Given the description of an element on the screen output the (x, y) to click on. 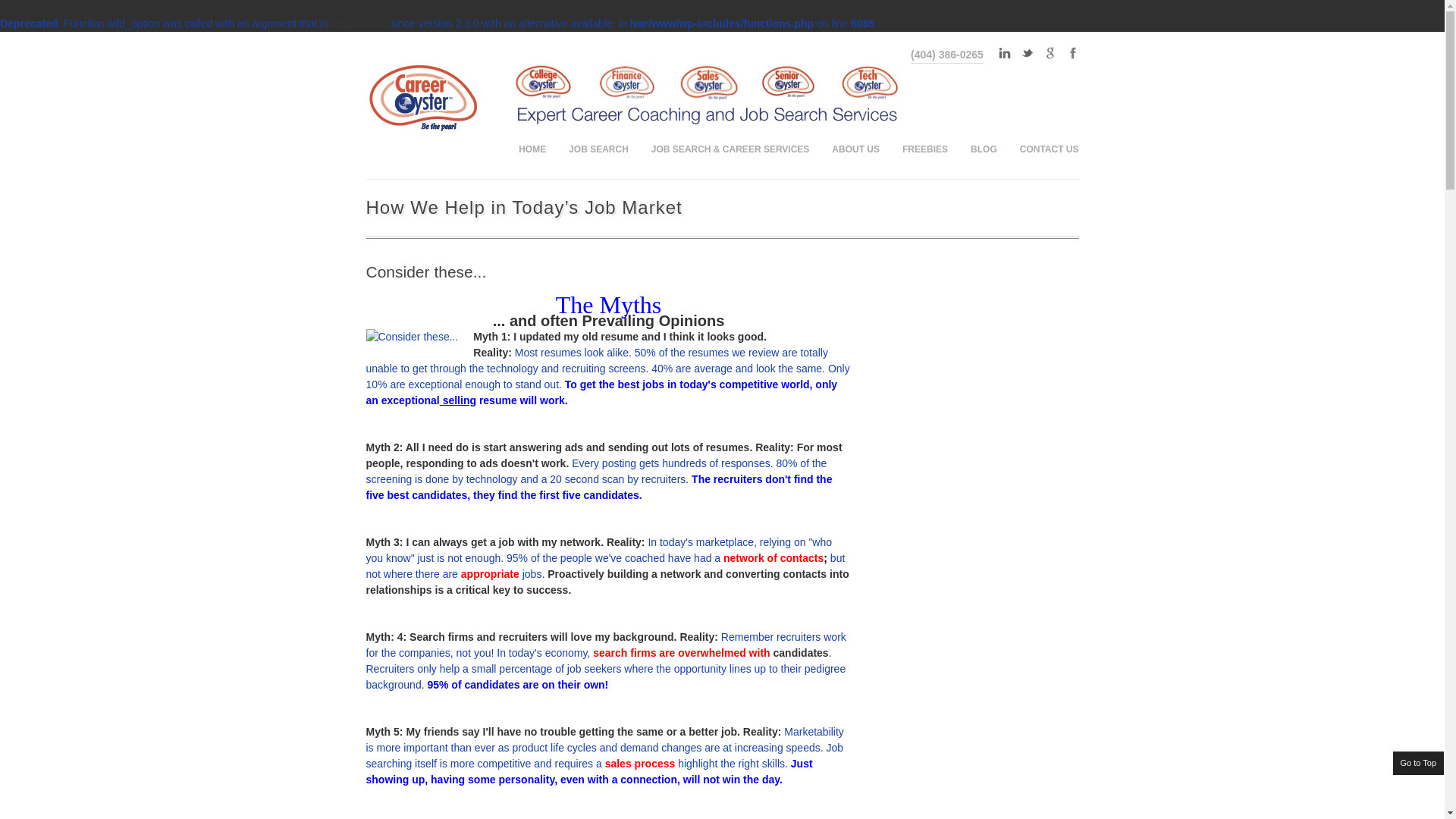
CareerOyster (649, 138)
LinkedIn (1004, 52)
HOME (531, 149)
ABOUT US (856, 149)
BLOG (984, 149)
CONTACT US (1043, 149)
JOB SEARCH (598, 149)
FREEBIES (925, 149)
Facebook (1071, 52)
Twitter (1027, 52)
